Given the description of an element on the screen output the (x, y) to click on. 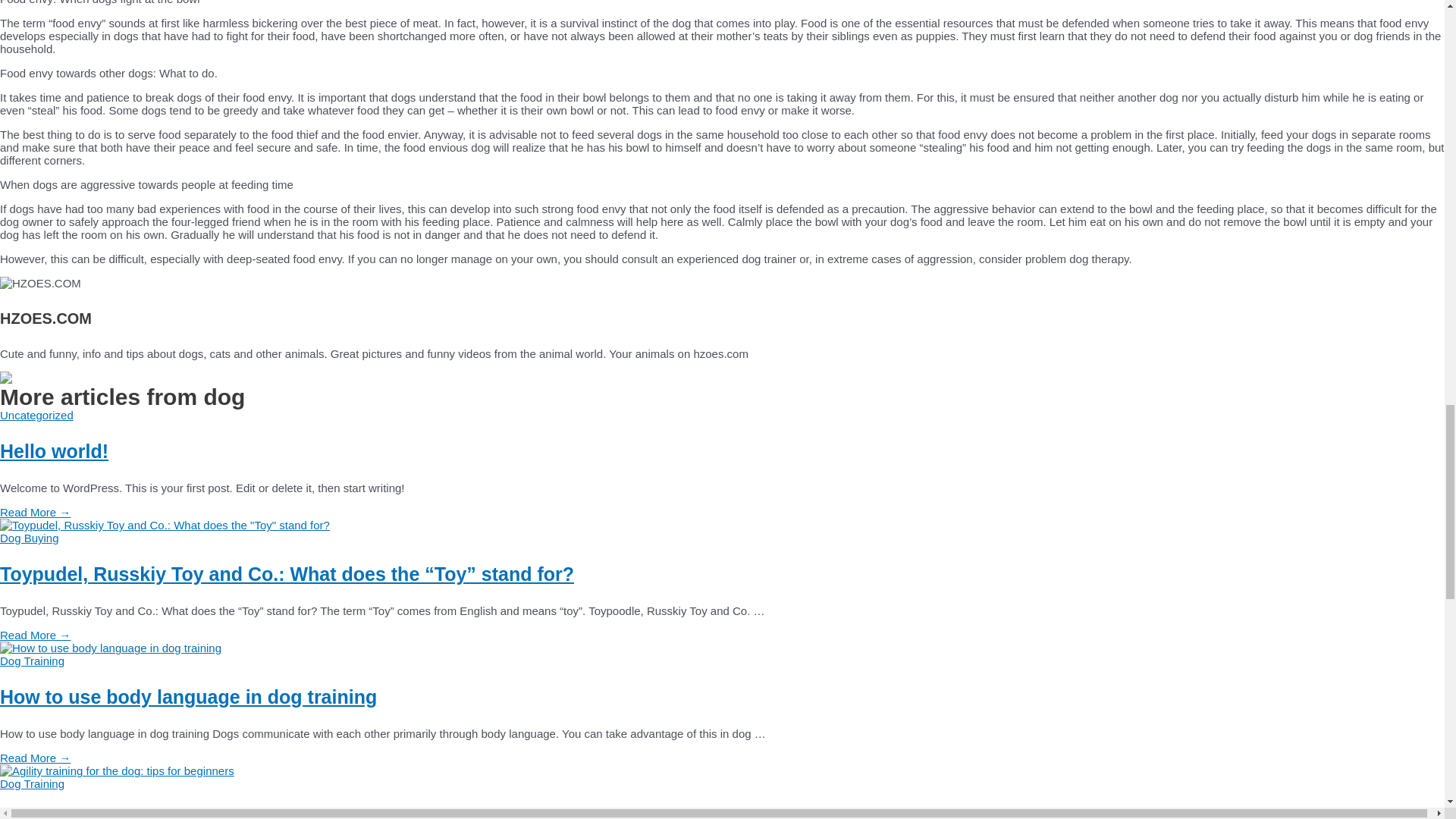
Agility training for the dog: tips for beginners (204, 814)
Dog Buying (29, 537)
Uncategorized (37, 414)
Agility training for the dog: tips for beginners (117, 770)
How to use body language in dog training (188, 696)
Dog Training (32, 660)
How to use body language in dog training (110, 647)
Dog Training (32, 783)
Hello world! (53, 450)
